Given the description of an element on the screen output the (x, y) to click on. 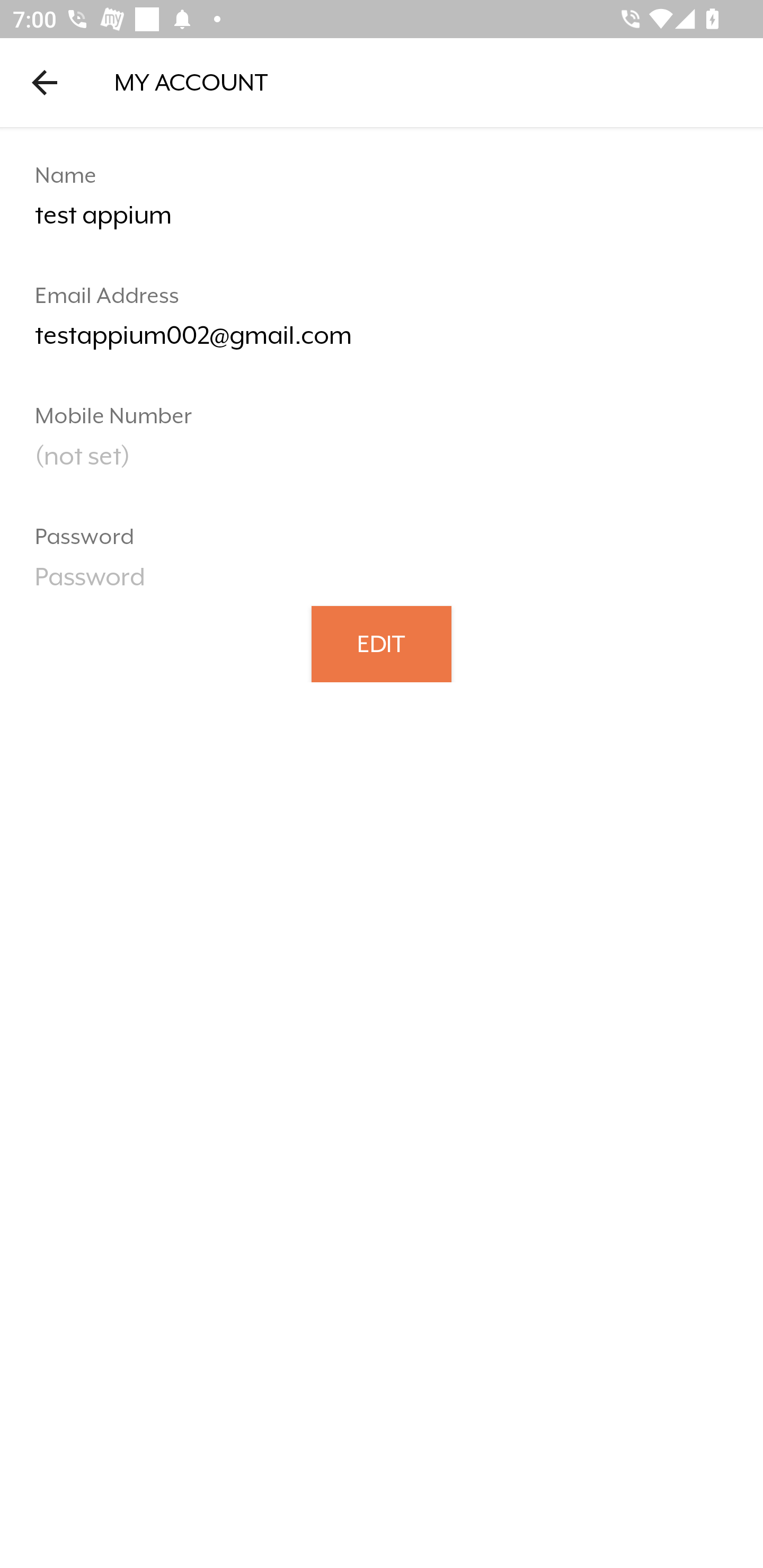
Navigate up (44, 82)
test appium (381, 222)
testappium002@gmail.com (381, 342)
Password (381, 583)
EDIT (381, 643)
